Given the description of an element on the screen output the (x, y) to click on. 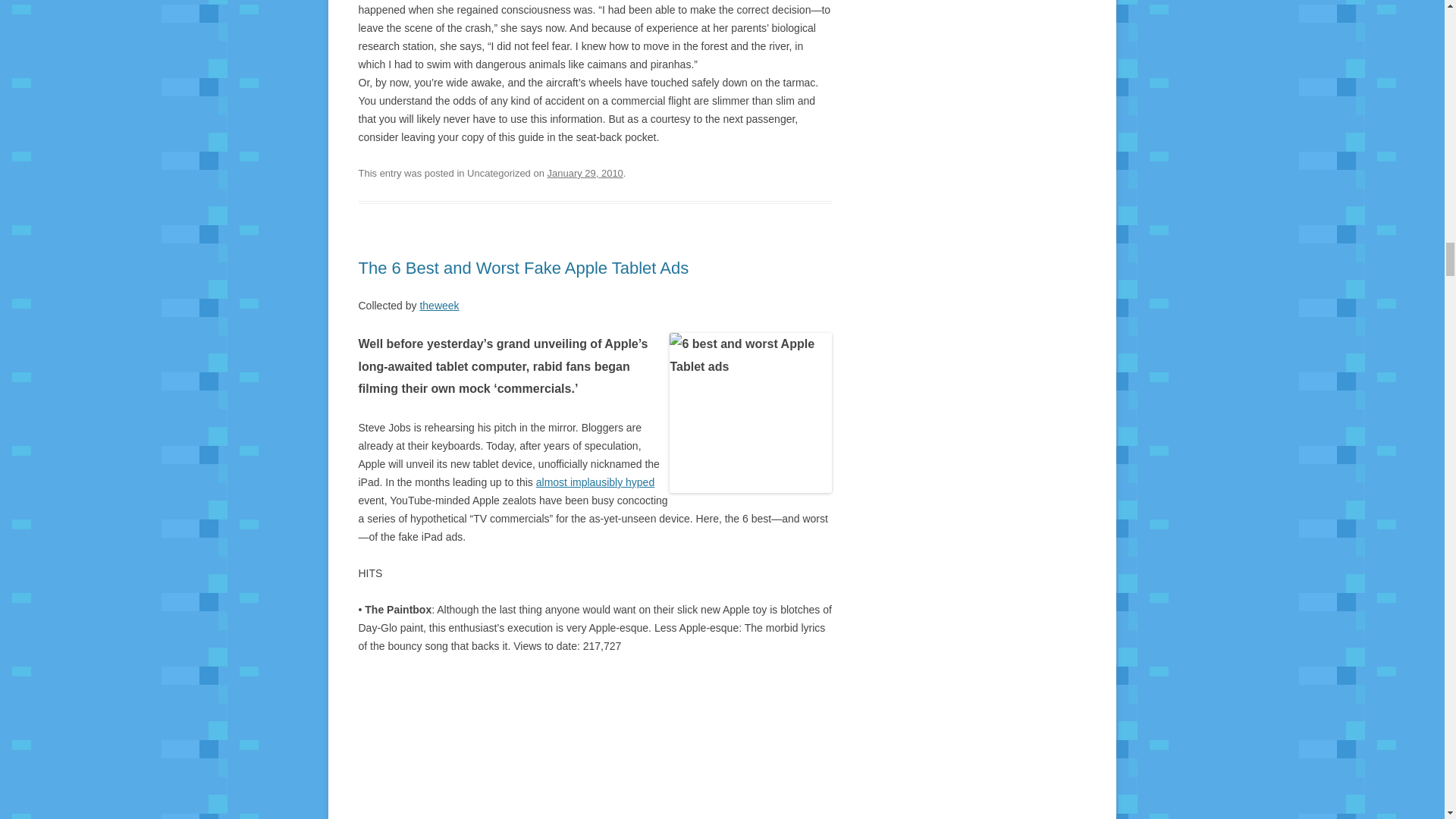
7:24 pm (585, 173)
